Given the description of an element on the screen output the (x, y) to click on. 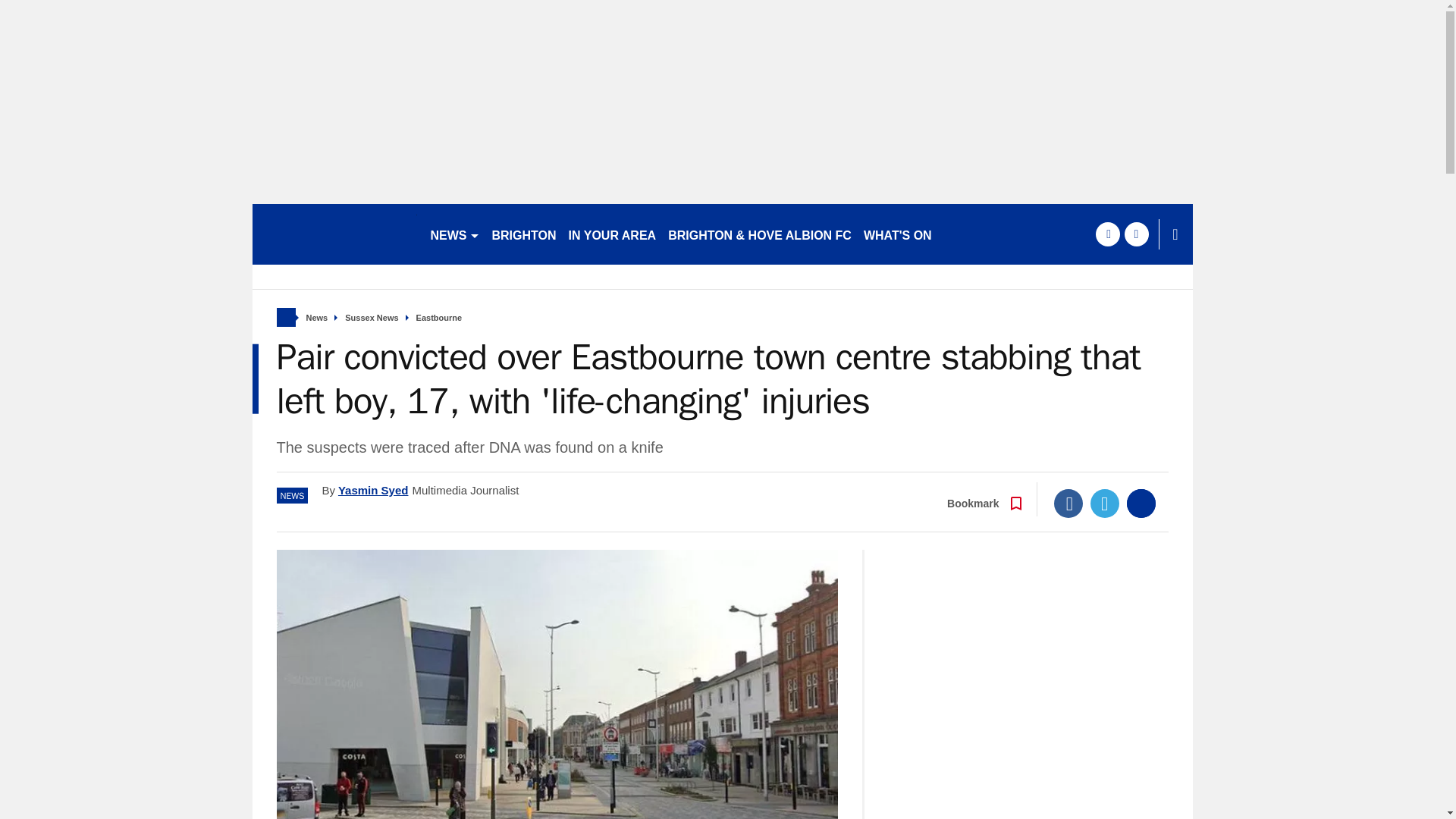
BRIGHTON (523, 233)
Facebook (1068, 502)
Twitter (1104, 502)
WHAT'S ON (897, 233)
IN YOUR AREA (612, 233)
twitter (1136, 233)
sussexlive (333, 233)
NEWS (455, 233)
facebook (1106, 233)
